Given the description of an element on the screen output the (x, y) to click on. 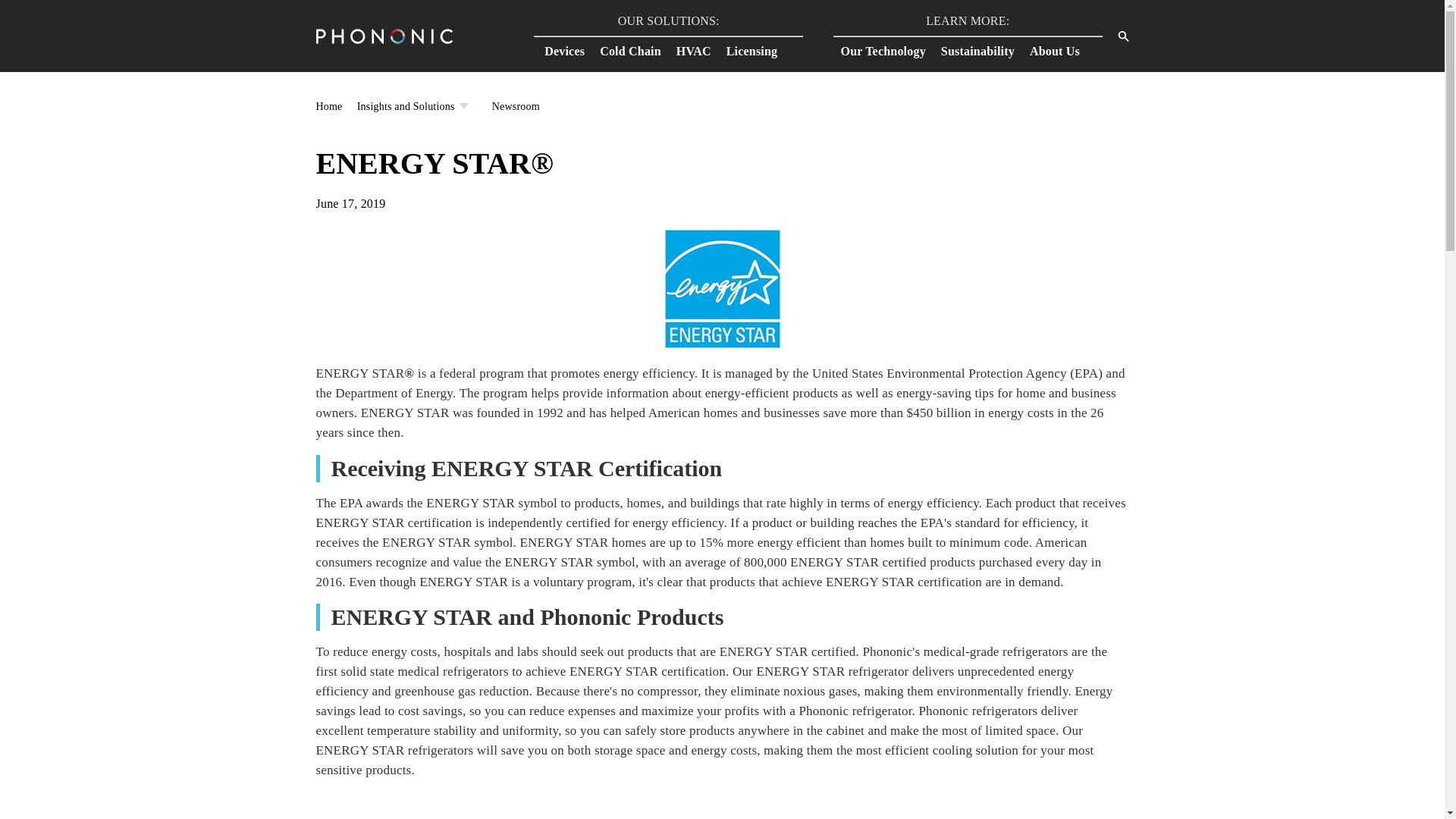
Licensing (759, 50)
HVAC (701, 50)
Devices (571, 50)
Sustainability (984, 50)
About Us (1061, 50)
Our Technology (890, 50)
Cold Chain (638, 50)
